Given the description of an element on the screen output the (x, y) to click on. 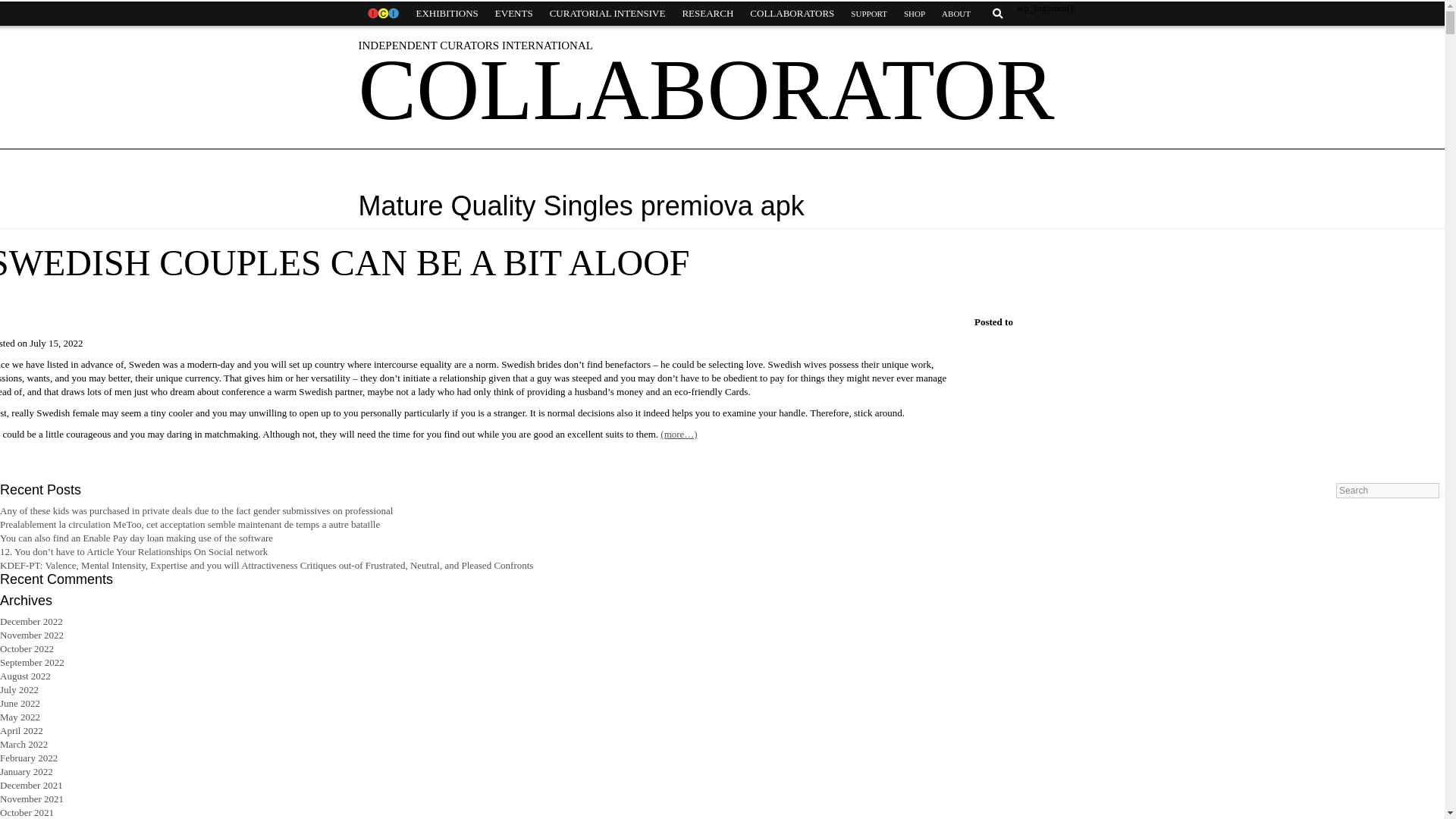
EVENTS (513, 13)
HOME (382, 13)
RESEARCH (706, 13)
EXHIBITIONS (446, 13)
COLLABORATORS (792, 13)
CURATORIAL INTENSIVE (607, 13)
